Given the description of an element on the screen output the (x, y) to click on. 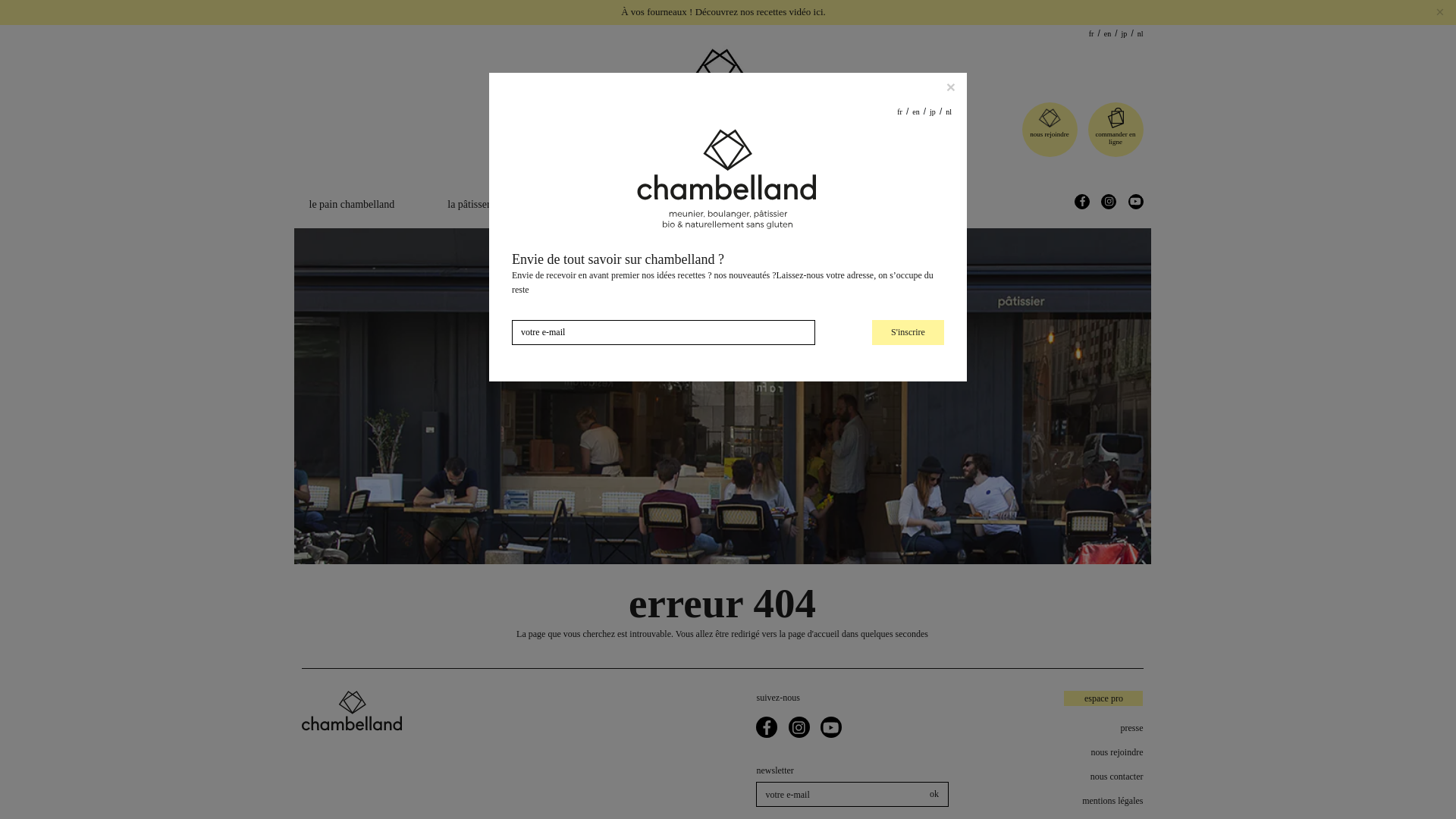
S'inscrire (907, 332)
espace pro (1103, 698)
notre histoire (672, 204)
nous rejoindre (1072, 752)
les revendeurs (892, 204)
les boutiques (781, 204)
ok (934, 793)
le pain chambelland (351, 204)
nous contacter (1072, 775)
ok (934, 793)
nous rejoindre (1049, 134)
presse (1072, 727)
commander en ligne (1116, 137)
